Given the description of an element on the screen output the (x, y) to click on. 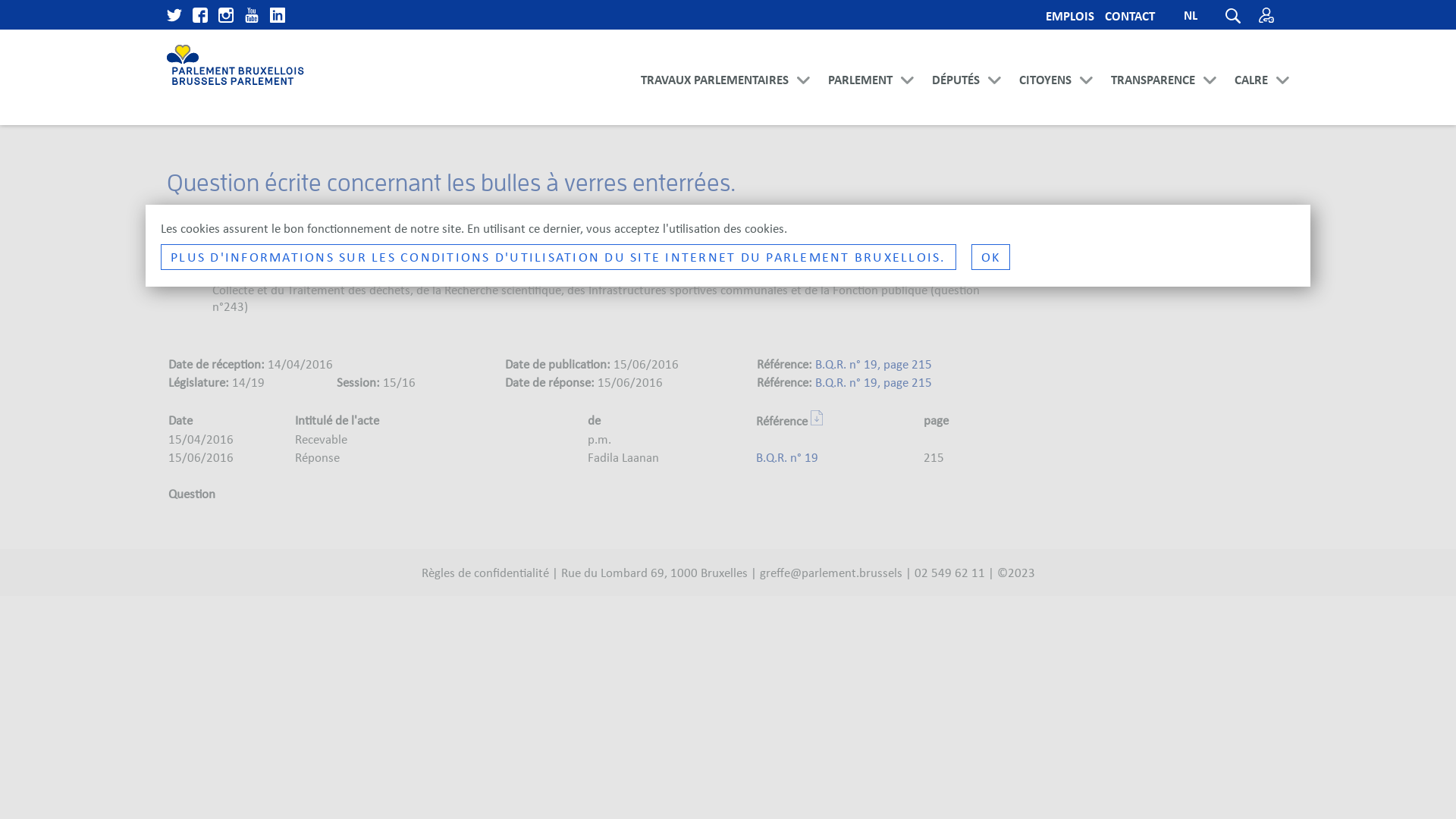
EMPLOIS Element type: text (1069, 16)
TRAVAUX PARLEMENTAIRES Element type: text (714, 99)
TRANSPARENCE Element type: text (1152, 99)
greffe@parlement.brussels Element type: text (830, 572)
FR Element type: text (1190, 39)
CITOYENS Element type: text (1045, 99)
PARLEMENT Element type: text (860, 99)
CONTACT Element type: text (1129, 16)
OK Element type: text (990, 256)
CALRE Element type: text (1250, 99)
NL Element type: text (1190, 16)
